Given the description of an element on the screen output the (x, y) to click on. 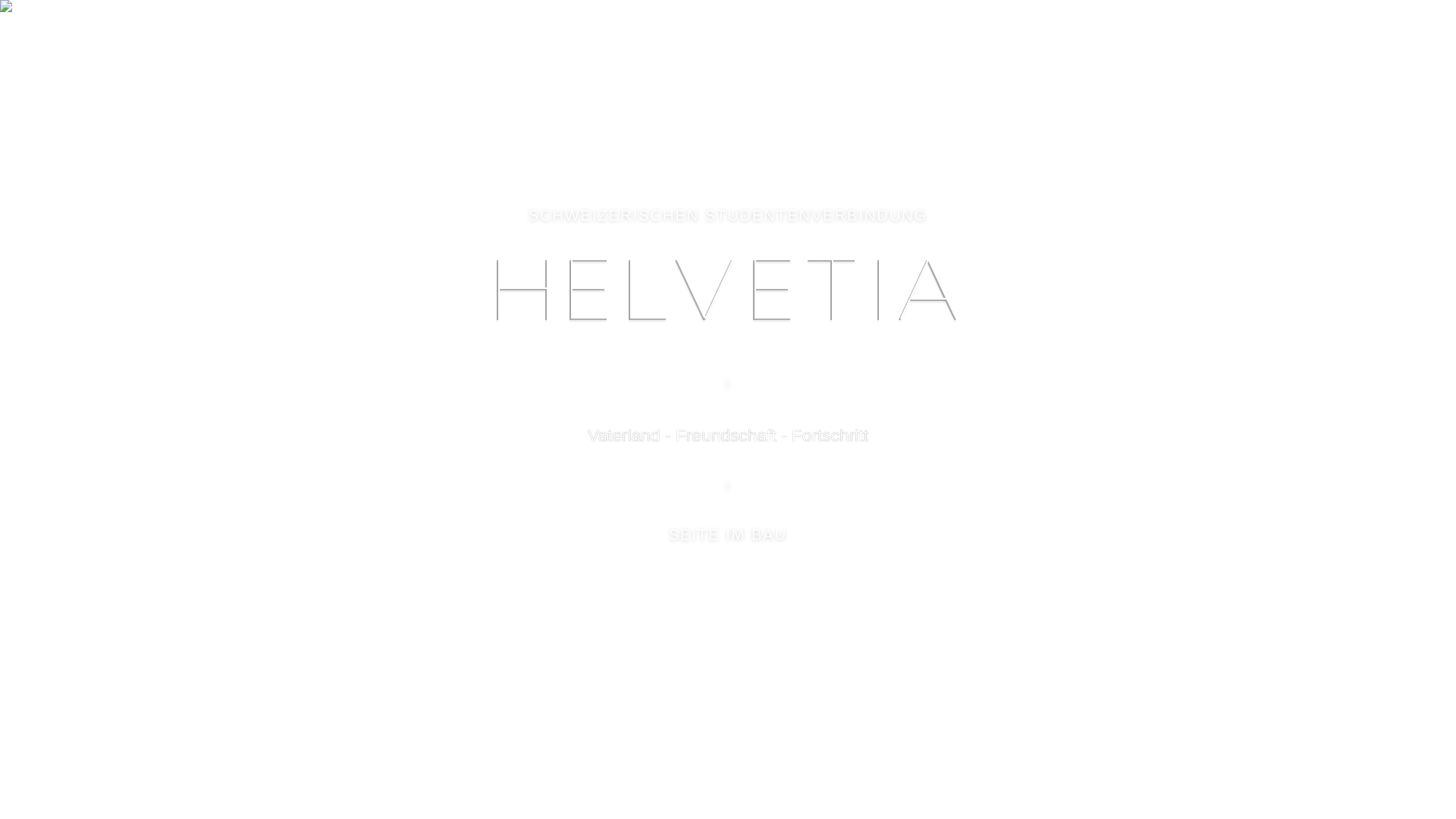
Helvetia Element type: text (335, 34)
Toggle navigation Element type: text (1144, 35)
